Given the description of an element on the screen output the (x, y) to click on. 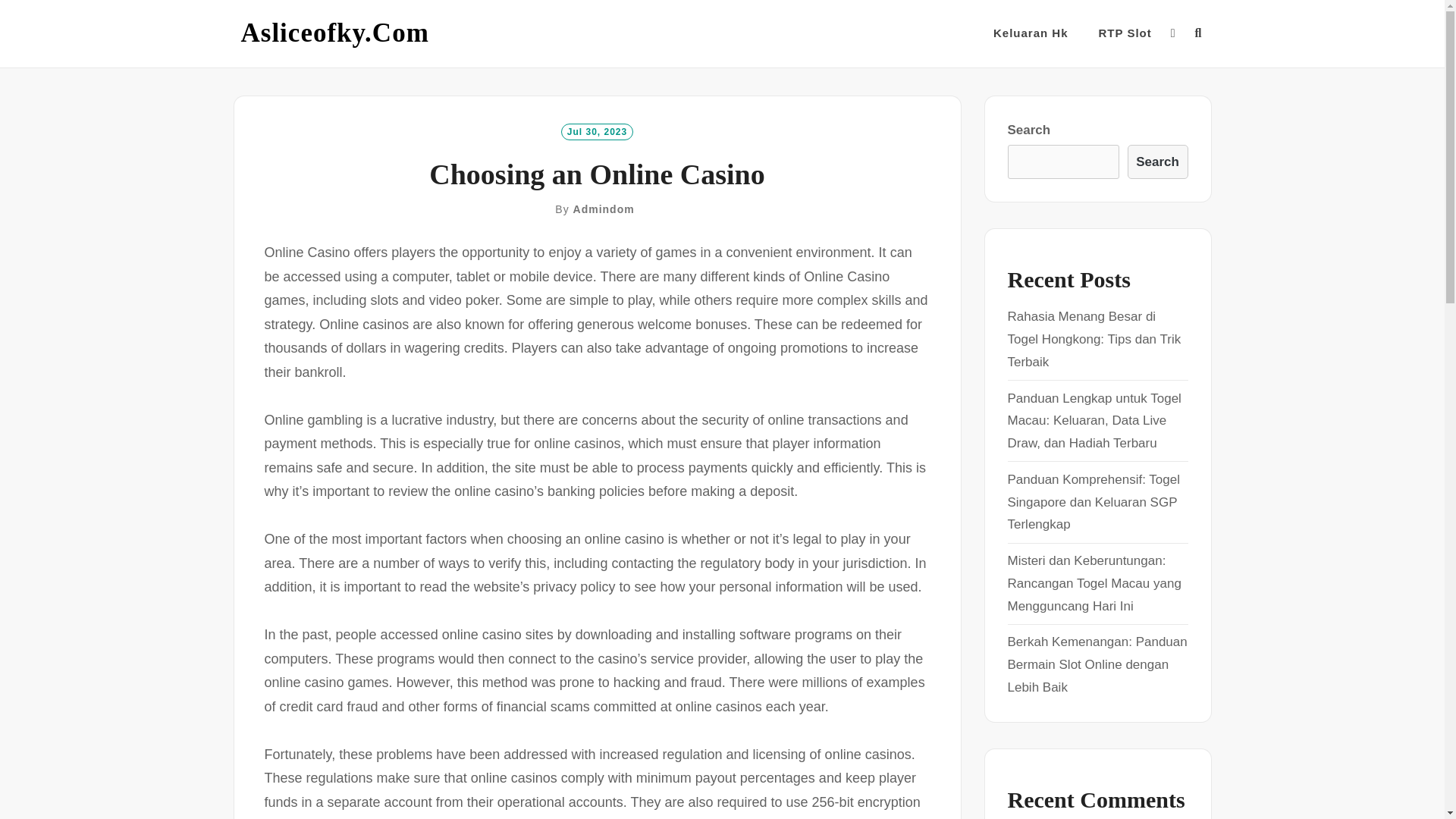
Jul 30, 2023 (596, 130)
Search (1157, 161)
Keluaran Hk (1030, 33)
RTP Slot (1125, 33)
Asliceofky.Com (335, 33)
Admindom (603, 209)
